Given the description of an element on the screen output the (x, y) to click on. 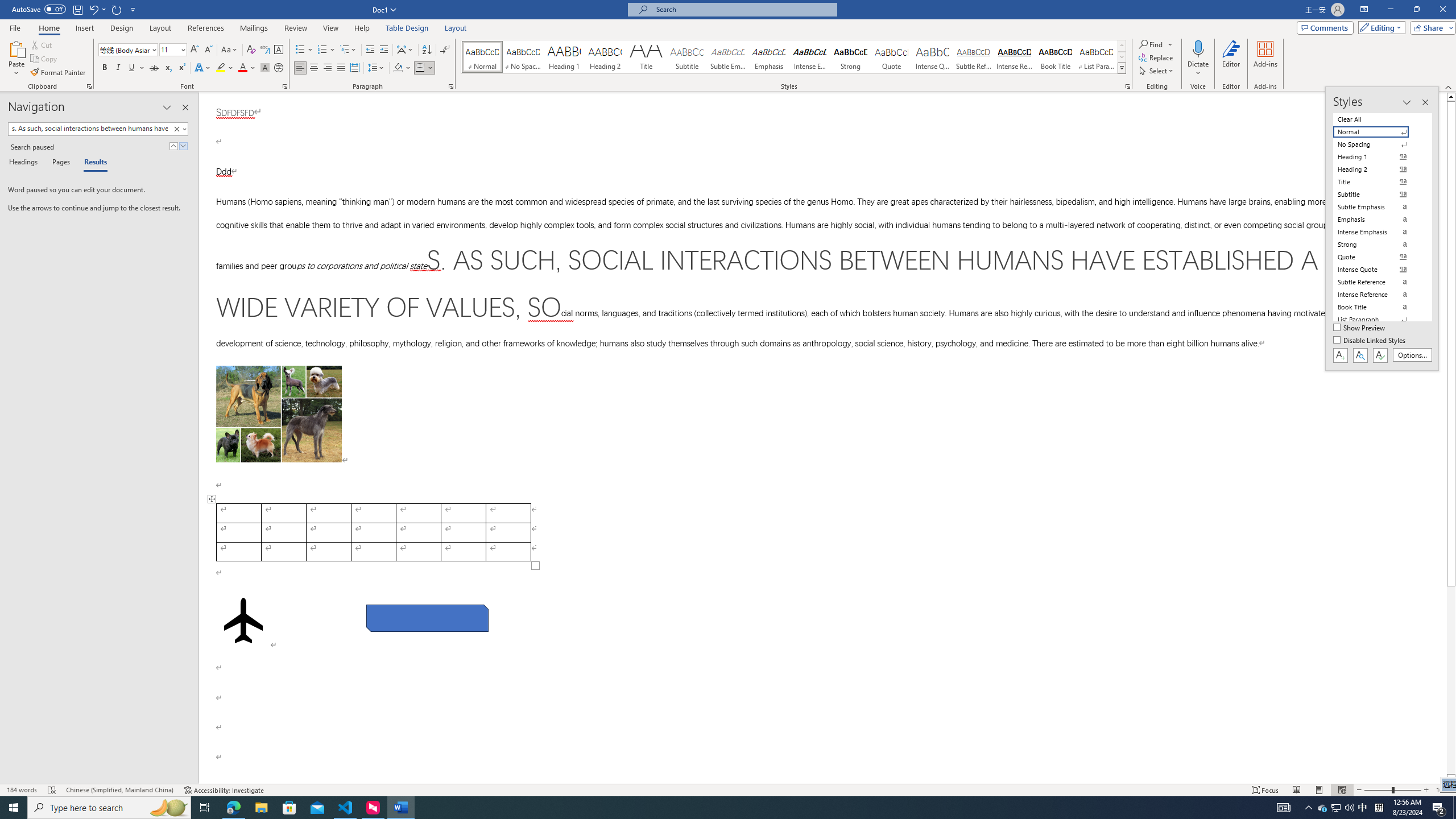
Emphasis (768, 56)
Show Preview (1360, 328)
Class: NetUIButton (1380, 355)
Next Result (183, 145)
